Given the description of an element on the screen output the (x, y) to click on. 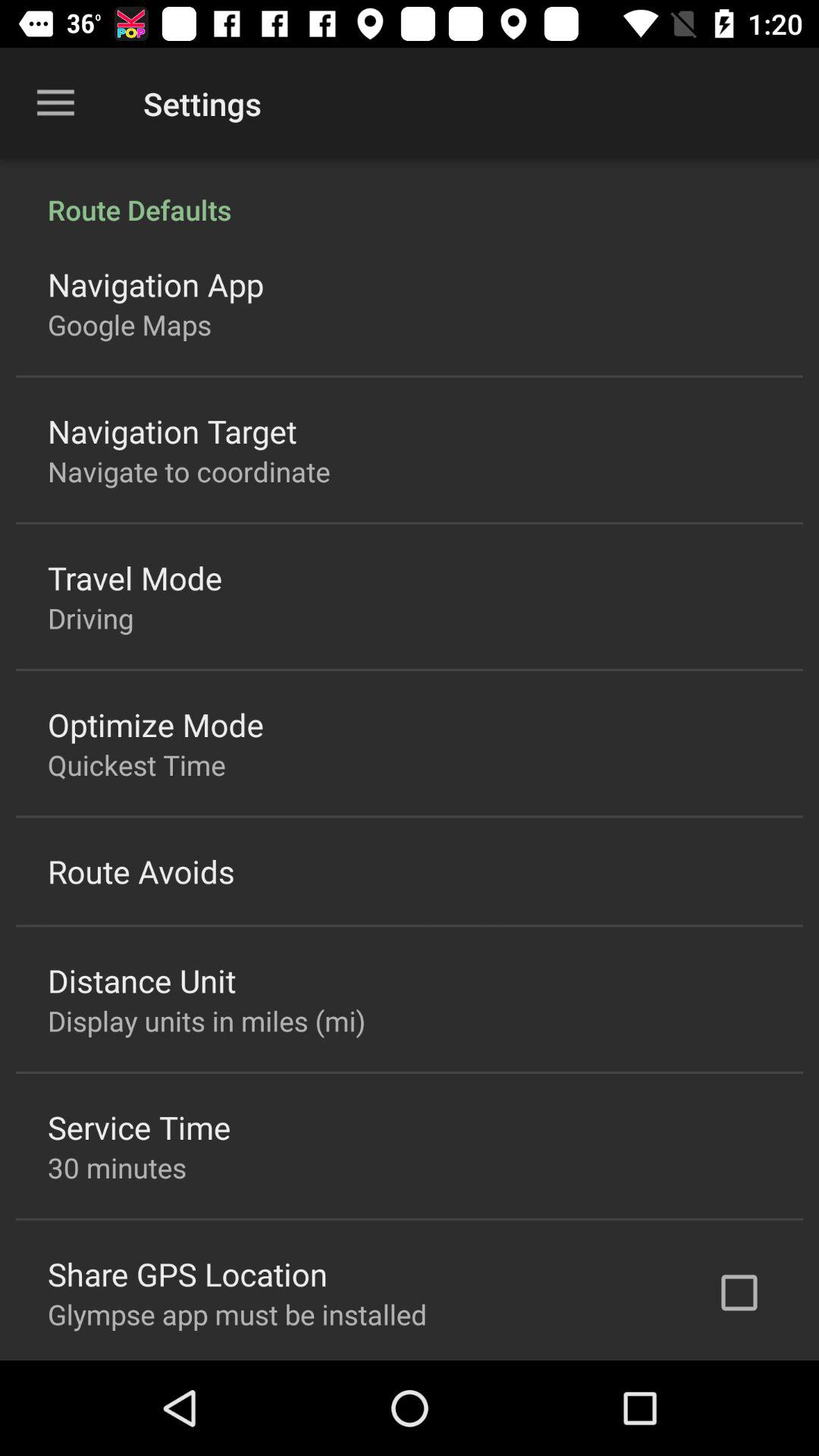
swipe until navigation app item (155, 283)
